Given the description of an element on the screen output the (x, y) to click on. 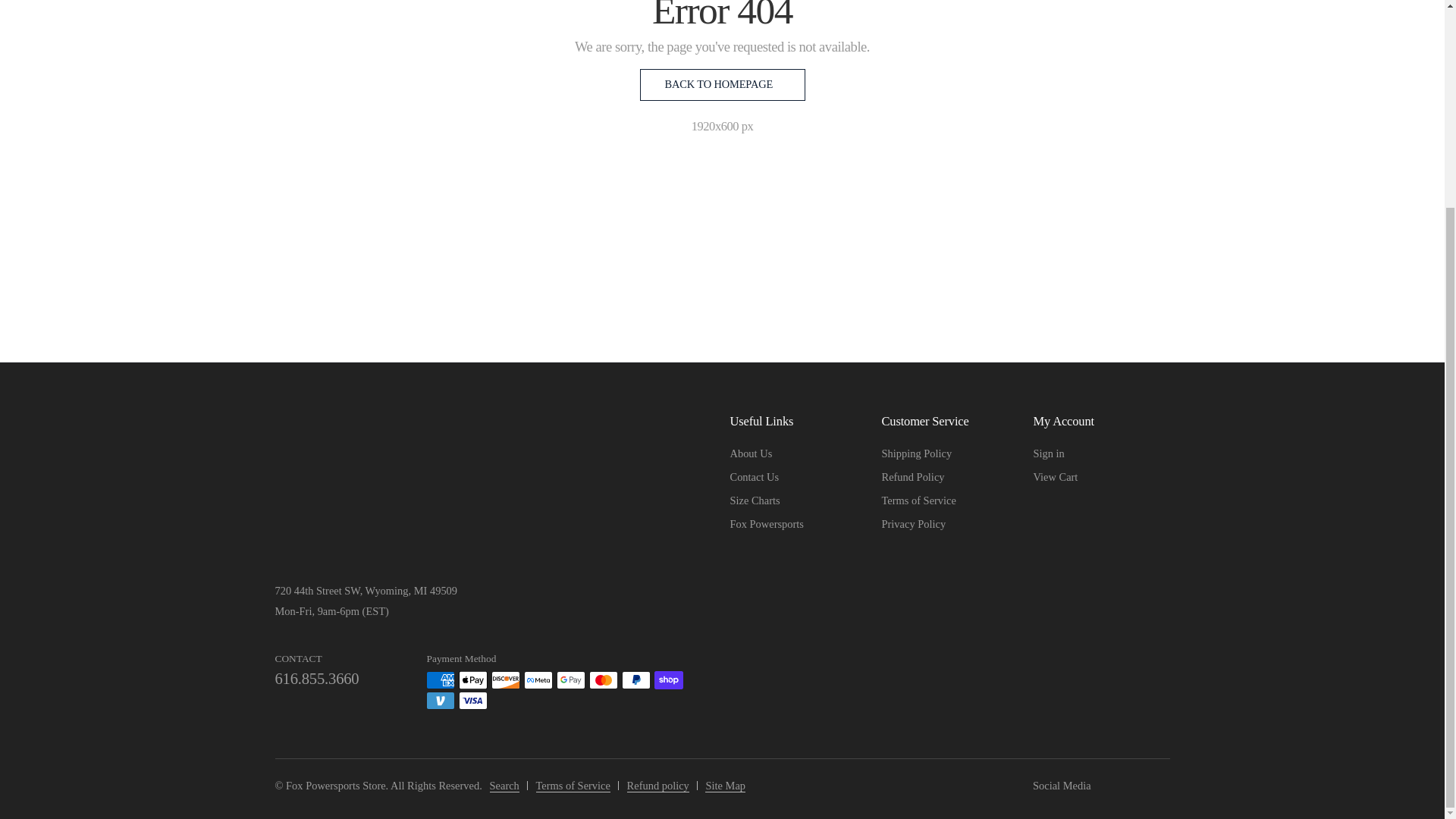
PayPal (635, 679)
Contact Us (753, 476)
Fox Powersports (766, 523)
Privacy Policy (912, 523)
Meta Pay (538, 679)
American Express (440, 679)
About Us (750, 453)
Terms of Service (572, 785)
Refund policy (657, 785)
616.855.3660 (316, 678)
Terms of Service (917, 500)
Size Charts (753, 500)
Search (504, 785)
Discover (505, 679)
Shipping Policy (916, 453)
